Given the description of an element on the screen output the (x, y) to click on. 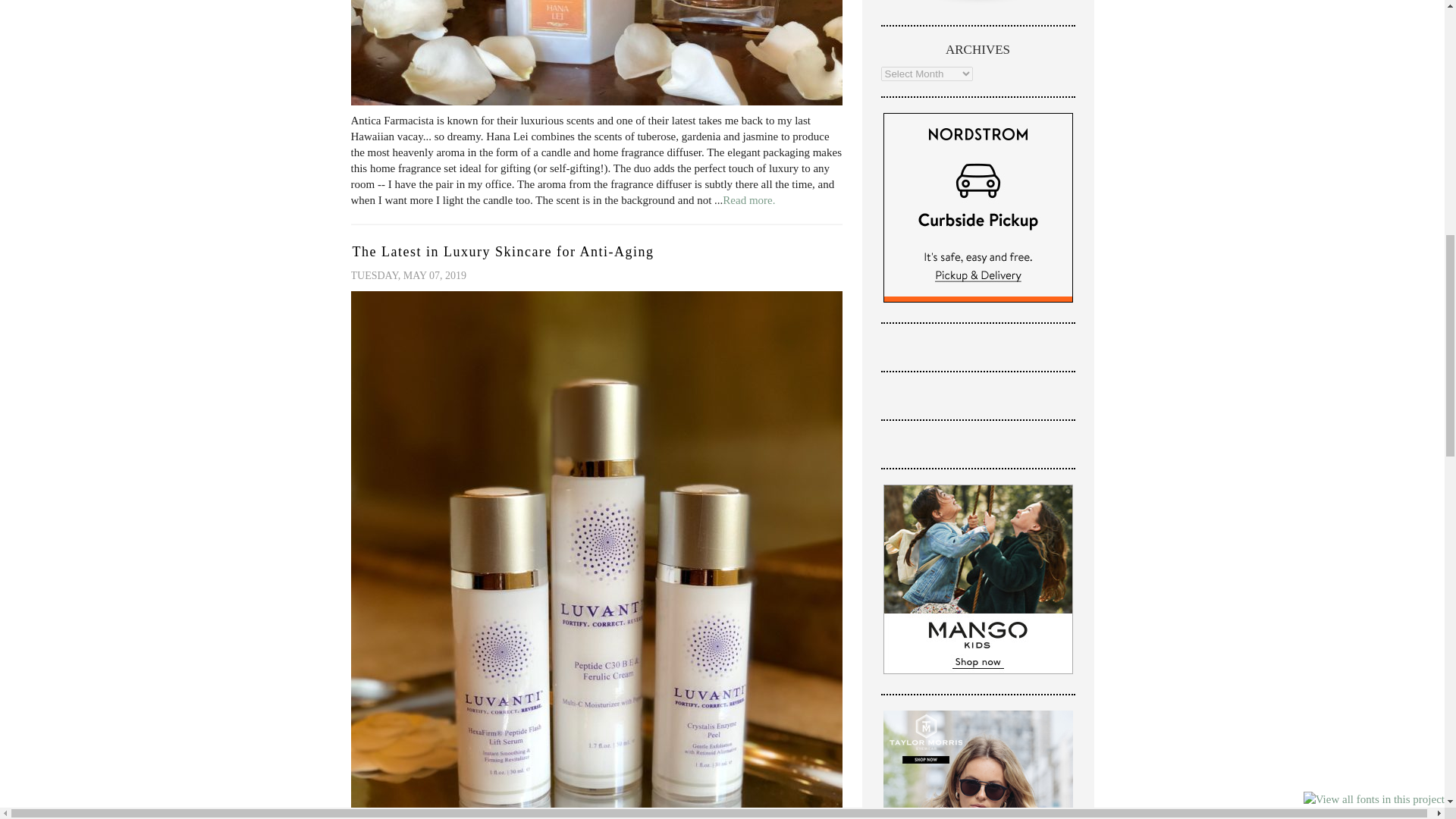
The Latest in Luxury Skincare for Anti-Aging (502, 251)
Read more. (748, 200)
Mom Fashion blogs (977, 3)
